Given the description of an element on the screen output the (x, y) to click on. 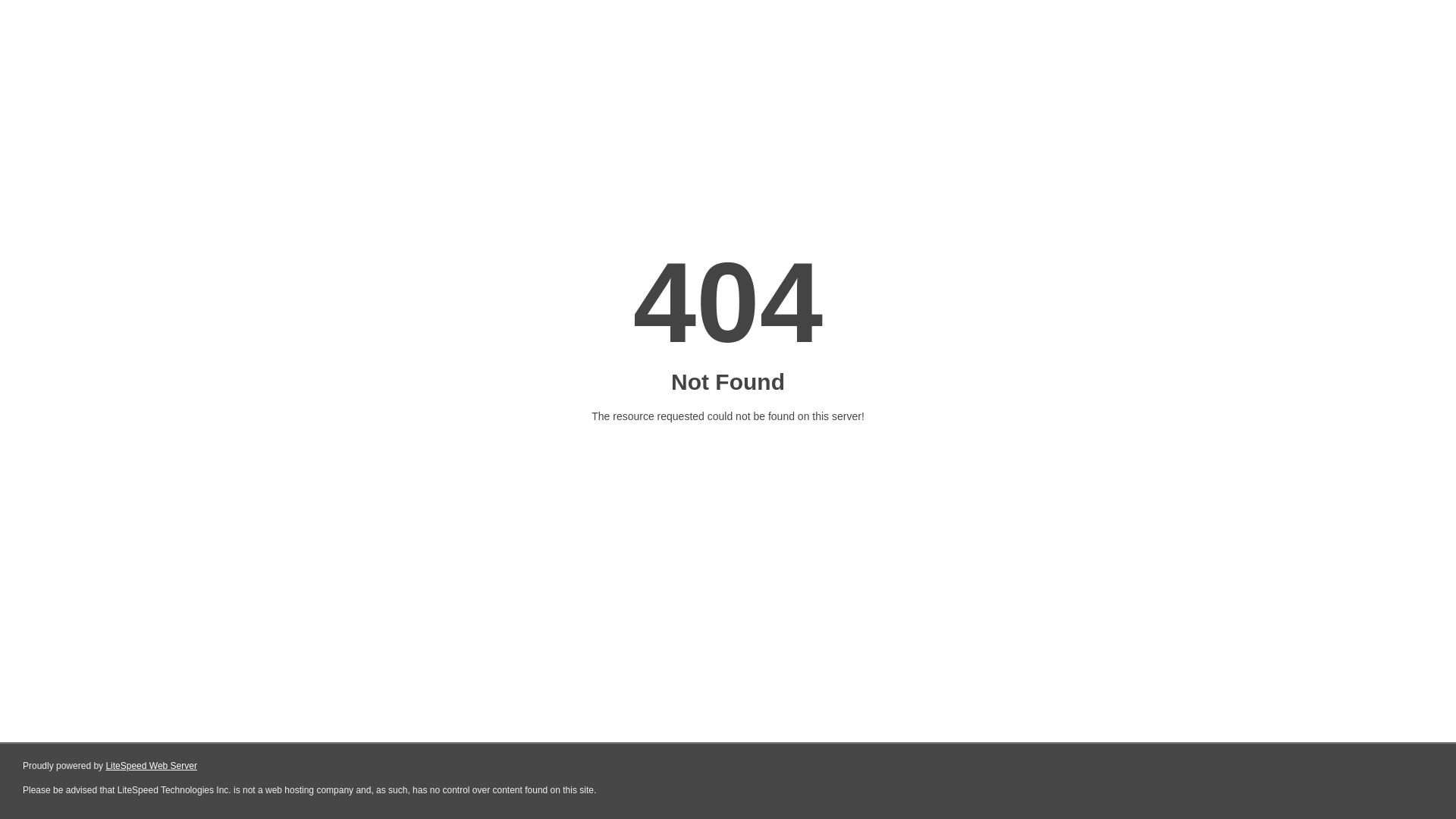
LiteSpeed Web Server Element type: text (151, 765)
